Given the description of an element on the screen output the (x, y) to click on. 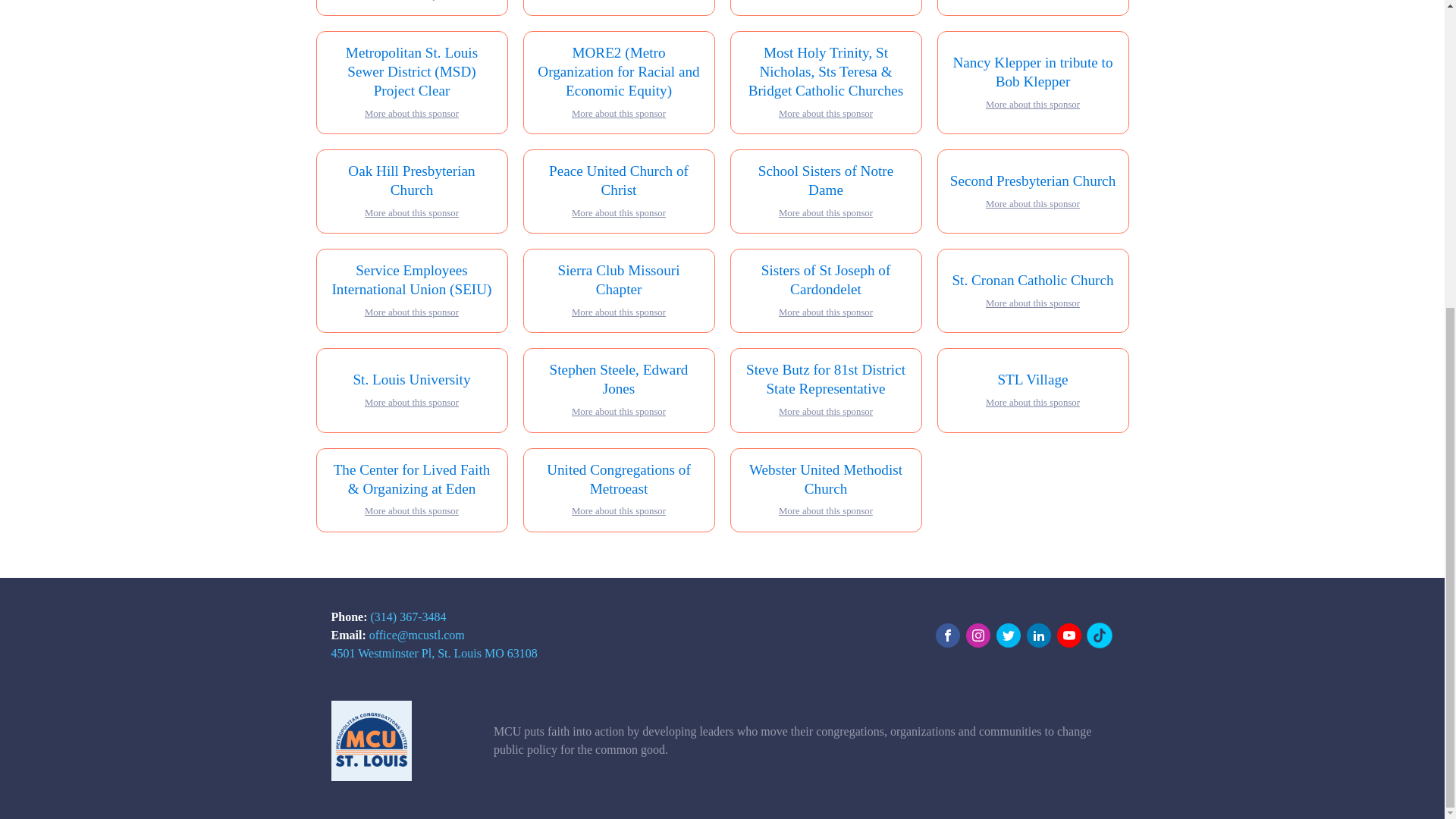
More about this sponsor (411, 114)
More about this sponsor (411, 213)
More about this sponsor (618, 114)
More about this sponsor (1032, 104)
More about this sponsor (411, 1)
More about this sponsor (618, 213)
More about this sponsor (825, 213)
More about this sponsor (825, 114)
